Given the description of an element on the screen output the (x, y) to click on. 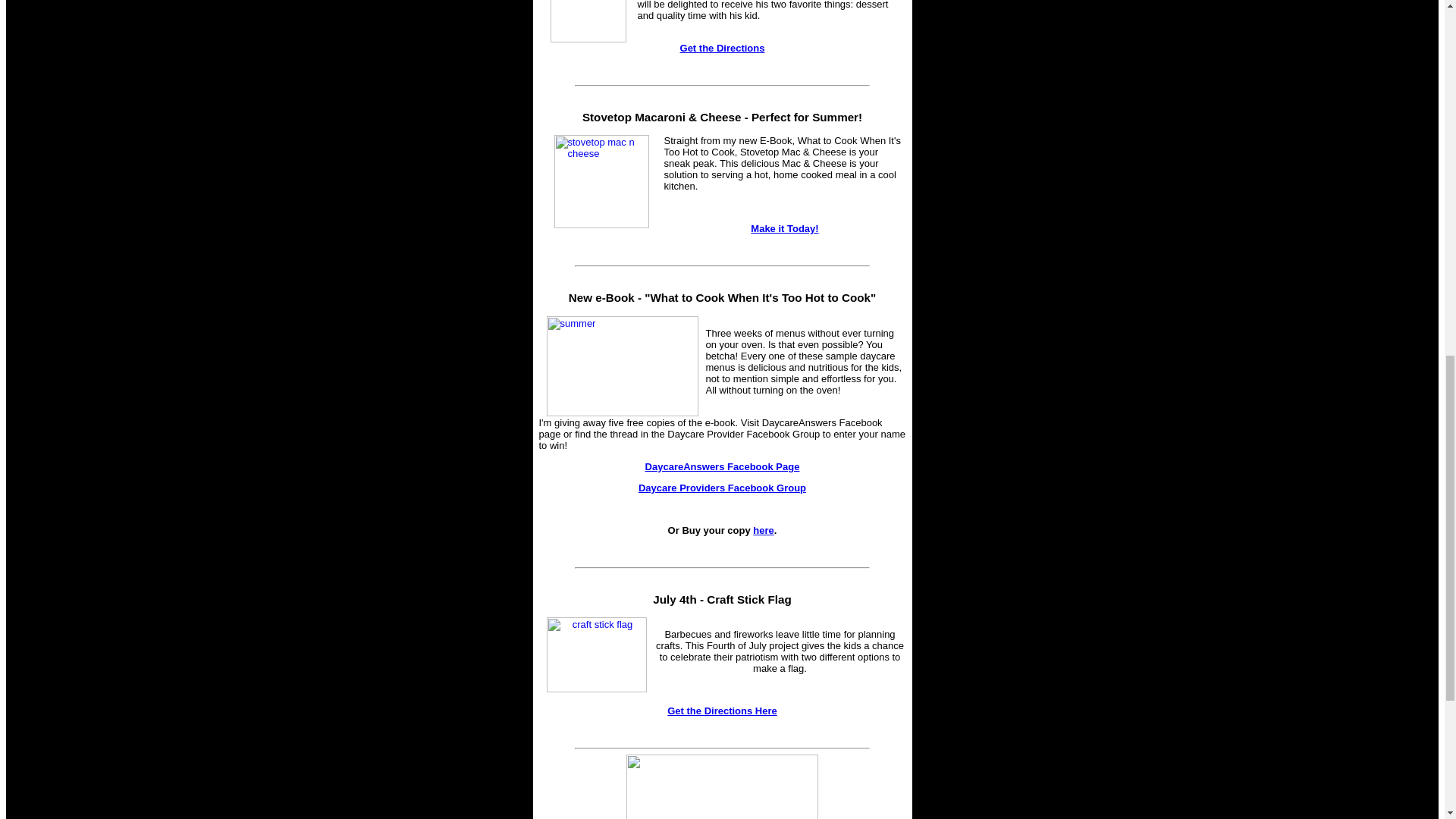
Make it Today! (784, 228)
Daycare Providers Facebook Group (722, 487)
Get the Directions Here (721, 710)
New e-Book - "What to Cook When It's Too Hot to Cook" (722, 297)
DaycareAnswers Facebook Page (722, 466)
here (762, 530)
July 4th - Craft Stick Flag (721, 599)
Get the Directions (722, 48)
